Given the description of an element on the screen output the (x, y) to click on. 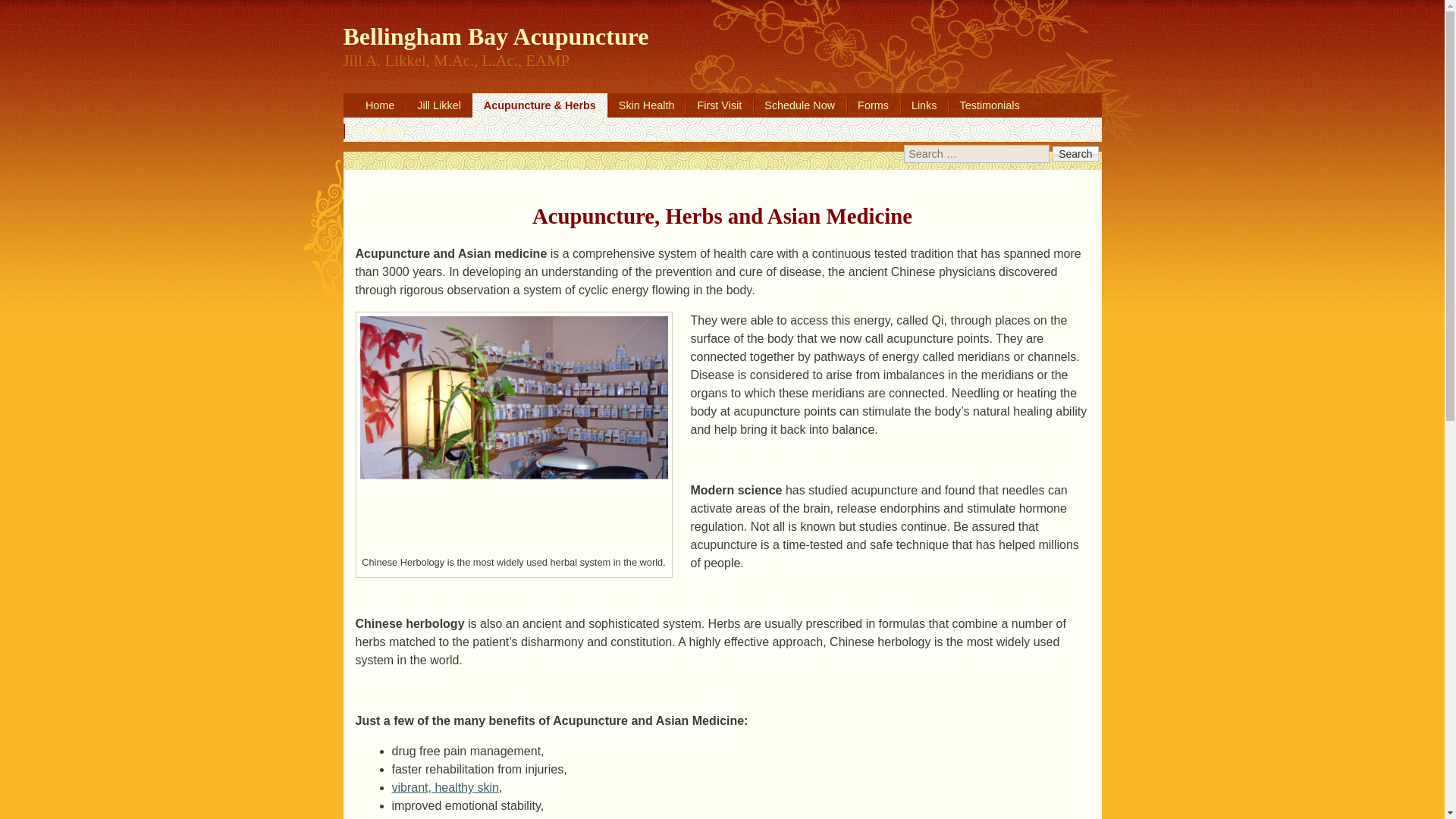
Forms (872, 105)
Schedule Now (798, 105)
Links (924, 105)
Search (1074, 154)
vibrant, healthy skin (444, 787)
Contact Us (380, 129)
Bellingham Bay Acupuncture (494, 24)
First Visit (718, 105)
Search (1074, 154)
Testimonials (988, 105)
